Given the description of an element on the screen output the (x, y) to click on. 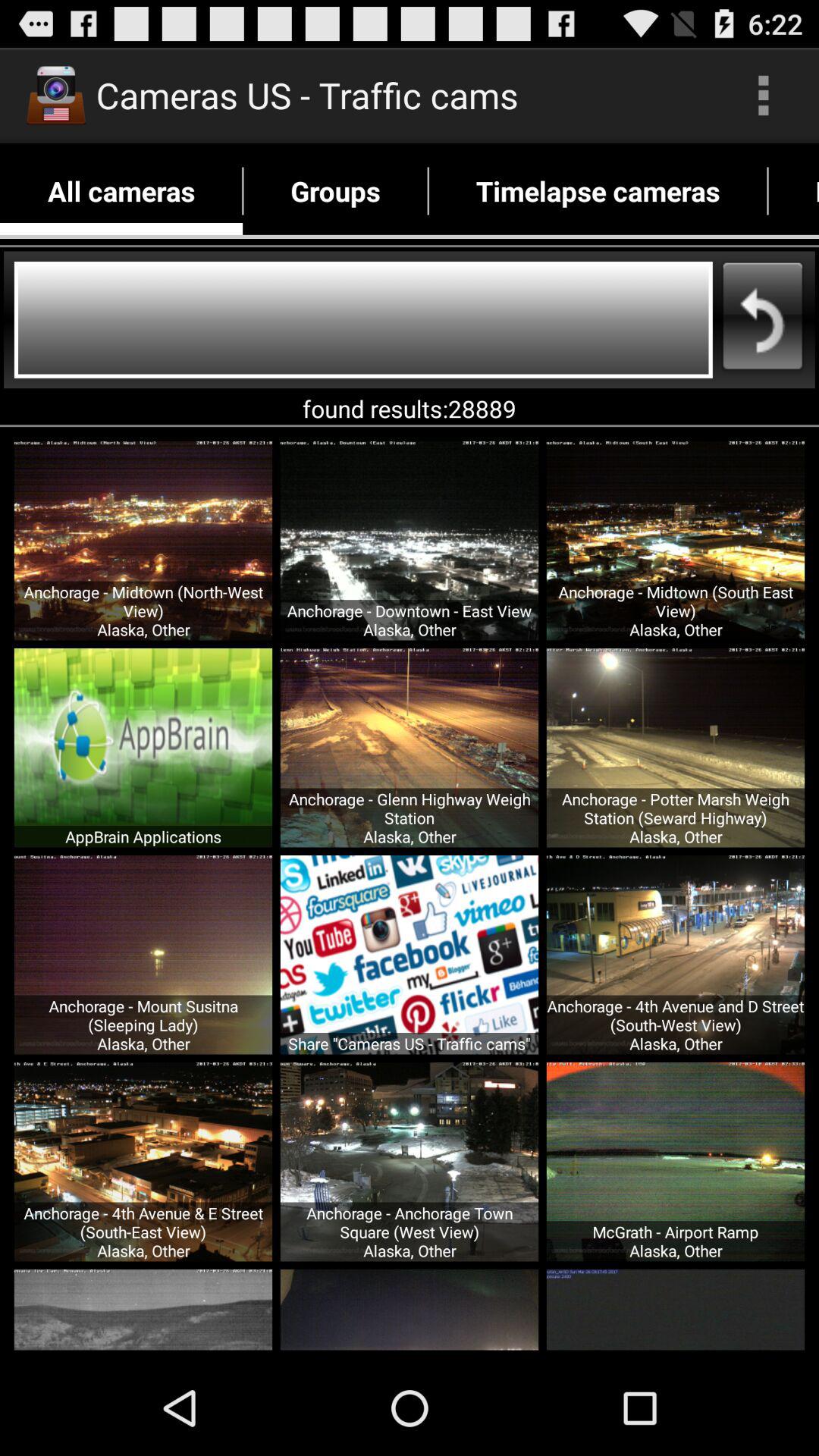
click appbrain applications icon (143, 836)
